Given the description of an element on the screen output the (x, y) to click on. 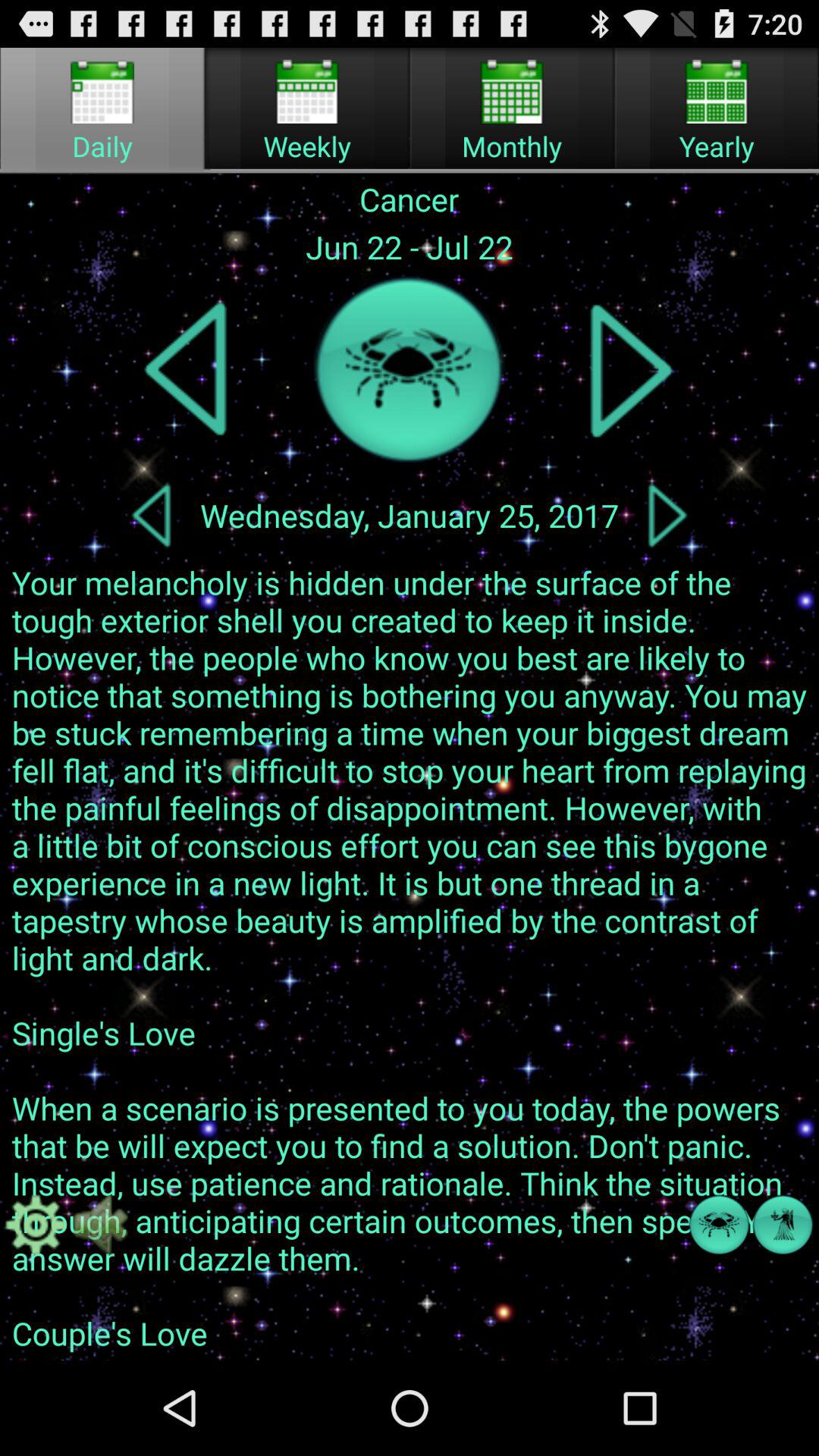
go to previous day (151, 514)
